Given the description of an element on the screen output the (x, y) to click on. 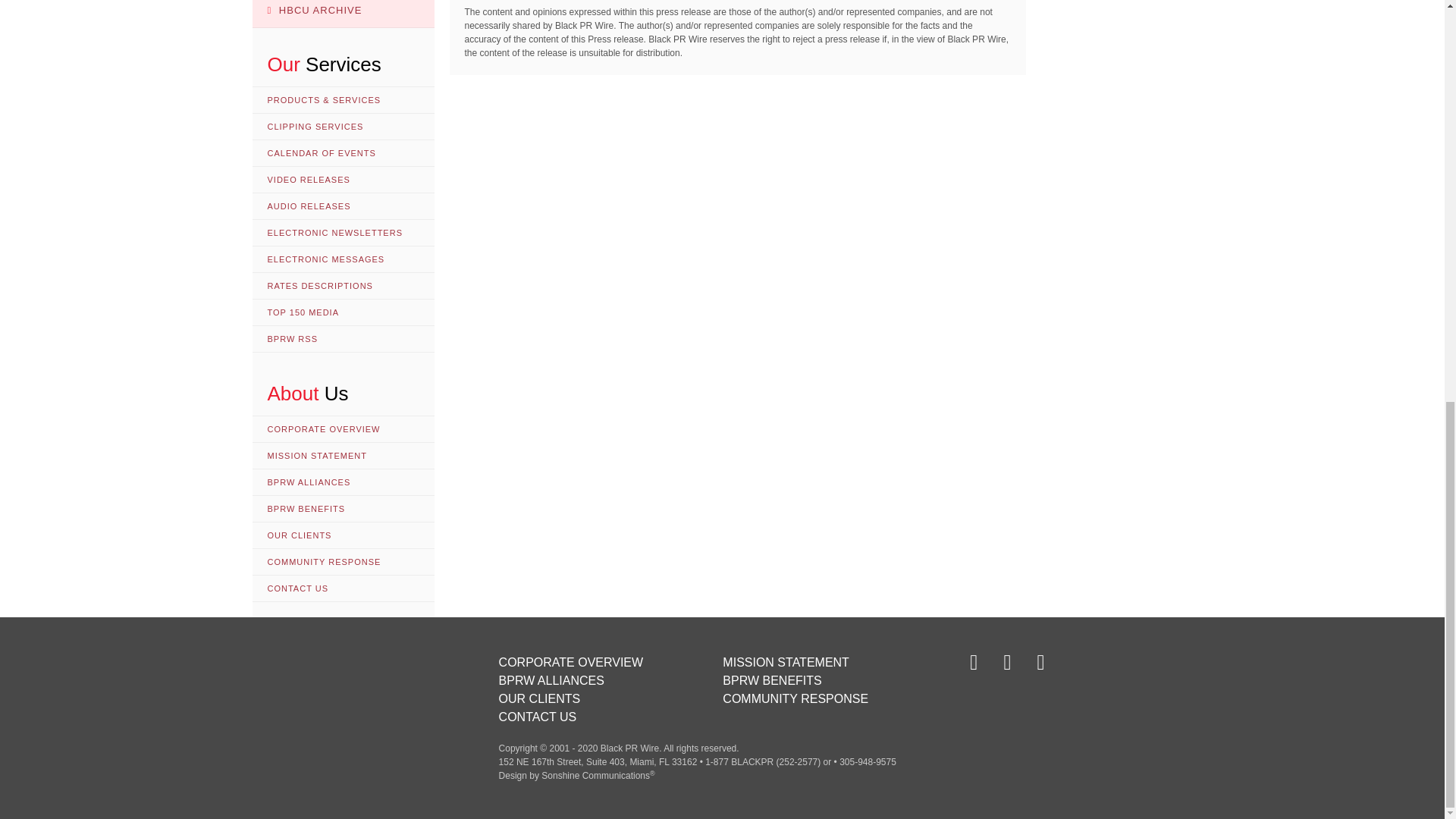
AUDIO RELEASES (342, 206)
CLIPPING SERVICES (342, 126)
CALENDAR OF EVENTS (342, 153)
VIDEO RELEASES (342, 180)
HBCU ARCHIVE (342, 13)
